Given the description of an element on the screen output the (x, y) to click on. 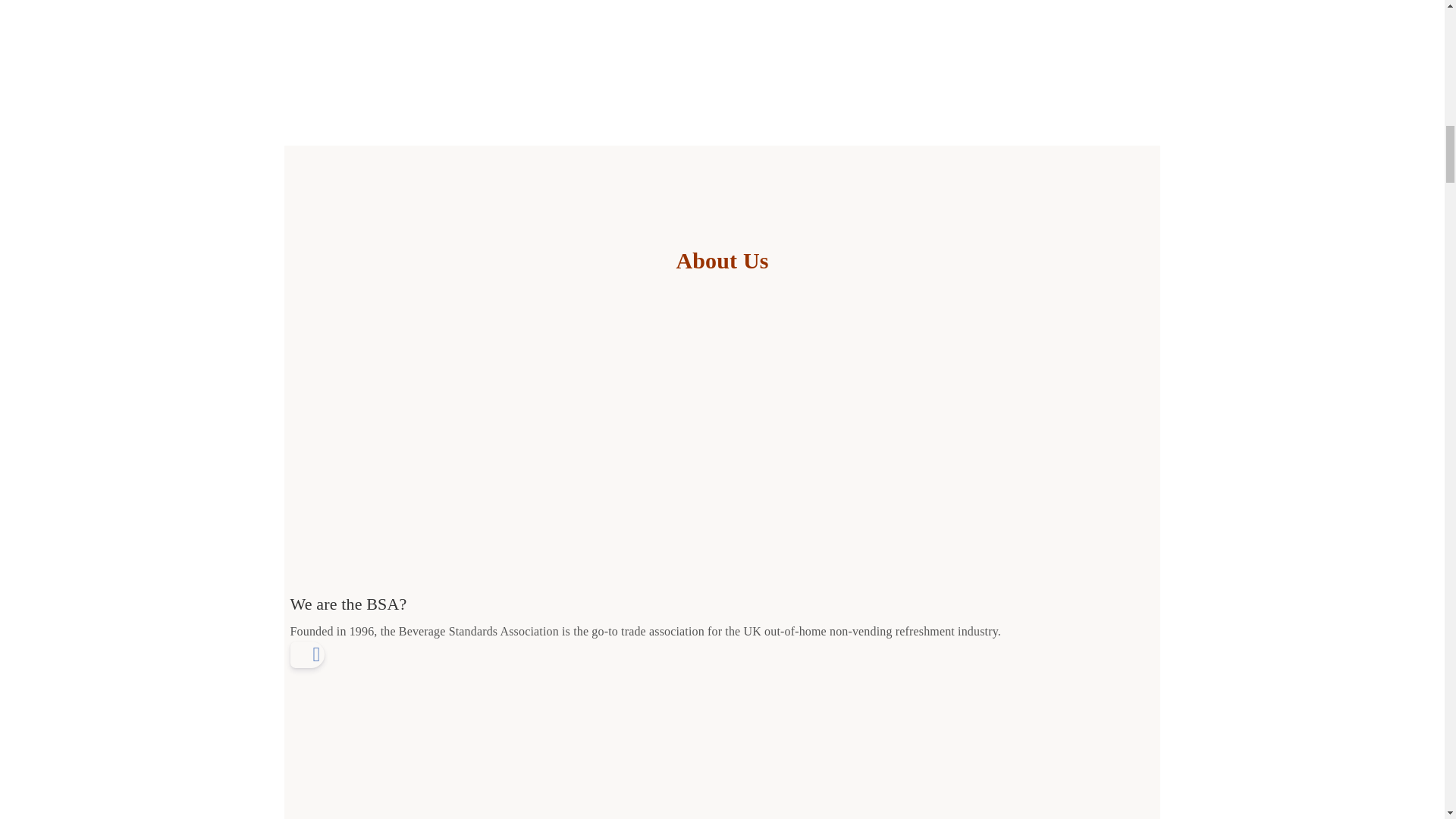
About BSA (722, 456)
